Given the description of an element on the screen output the (x, y) to click on. 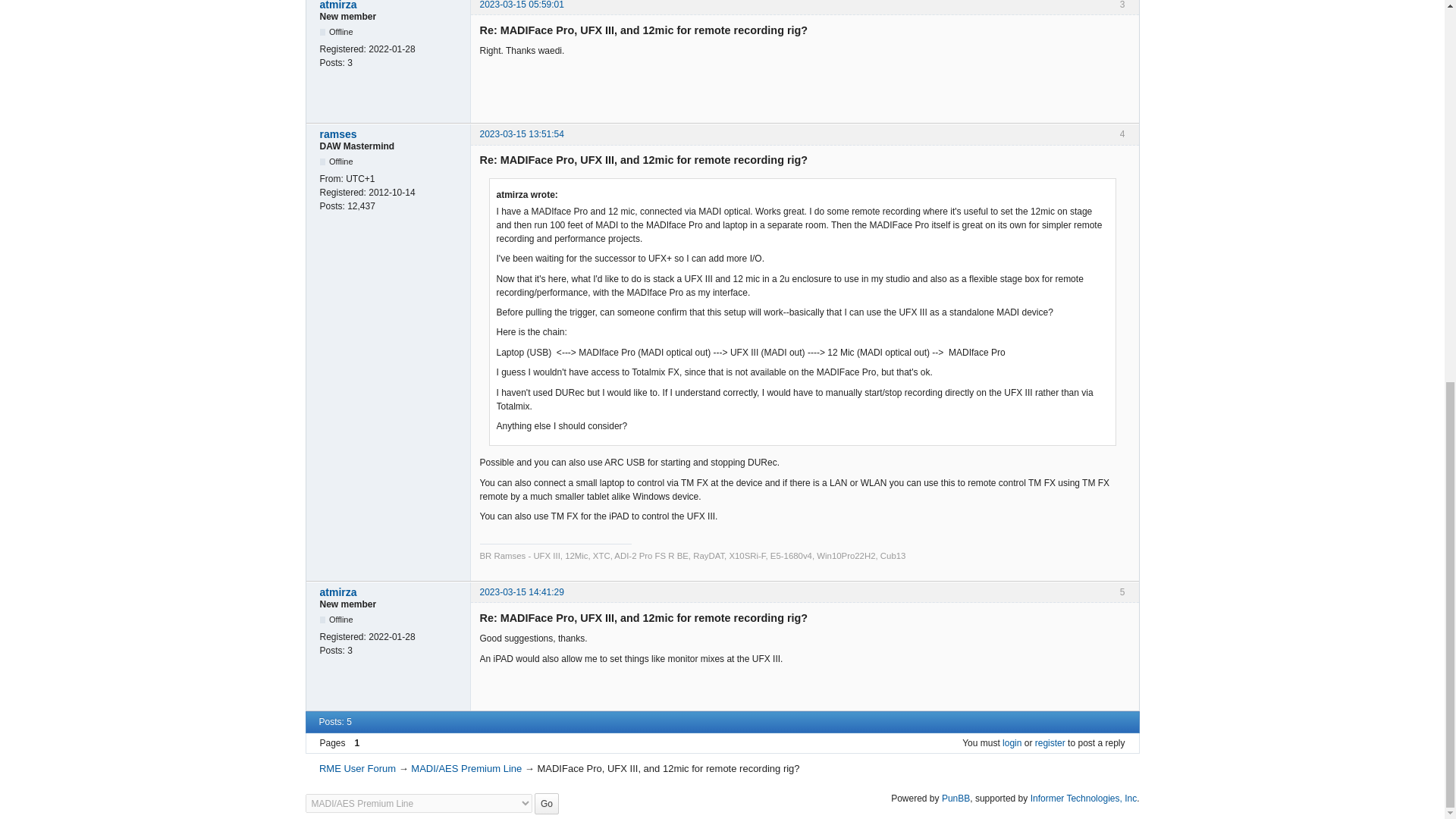
Informer Technologies, Inc (1083, 798)
login (1012, 742)
Permanent link to this post (521, 133)
Go to atmirza's profile (390, 5)
RME User Forum (357, 767)
atmirza (390, 5)
Go (546, 803)
register (1050, 742)
PunBB (955, 798)
ramses (390, 133)
2023-03-15 13:51:54 (521, 133)
Go (546, 803)
2023-03-15 05:59:01 (521, 4)
Permanent link to this post (521, 4)
2023-03-15 14:41:29 (521, 592)
